Given the description of an element on the screen output the (x, y) to click on. 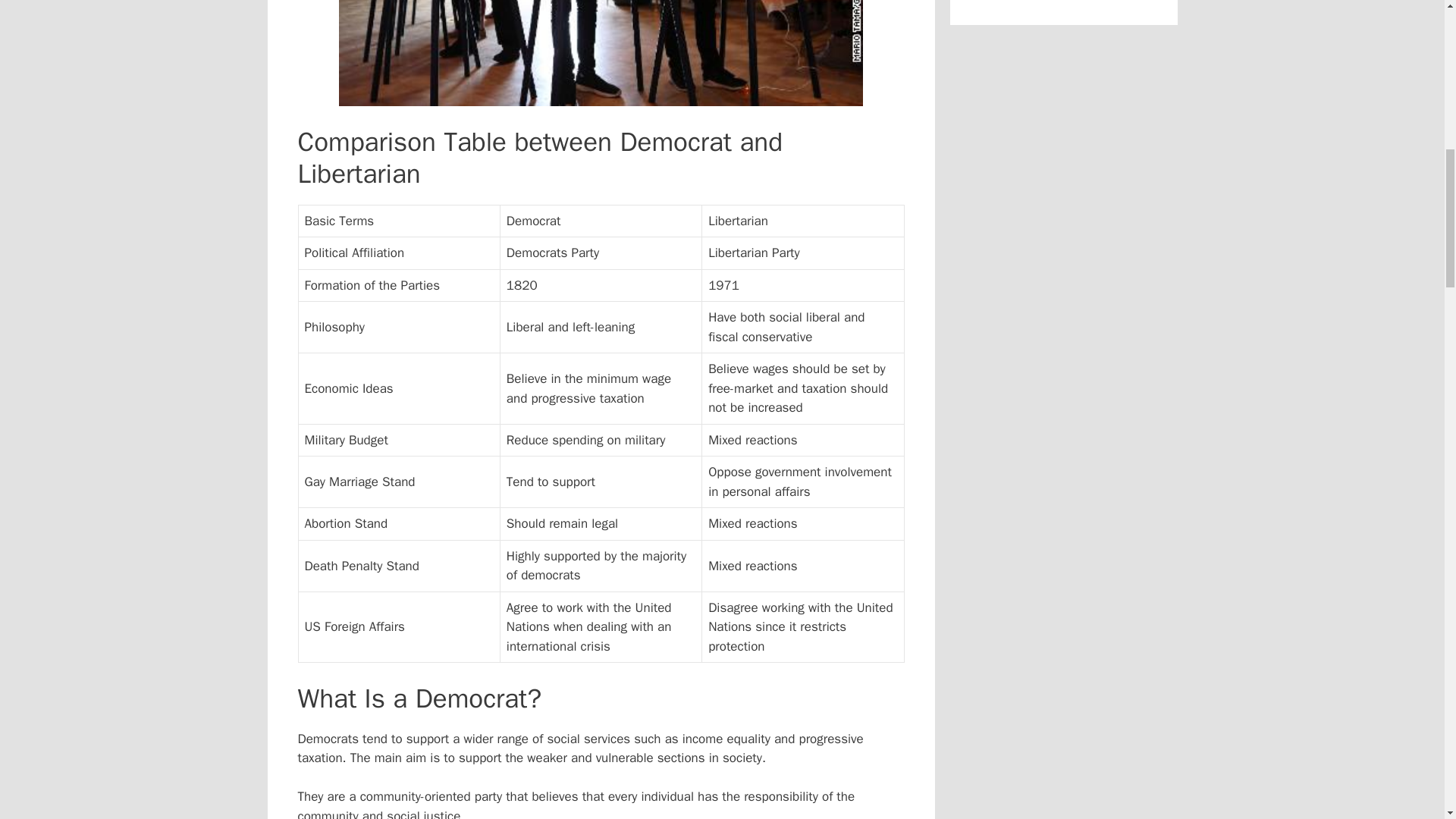
Scroll back to top (1406, 720)
